Given the description of an element on the screen output the (x, y) to click on. 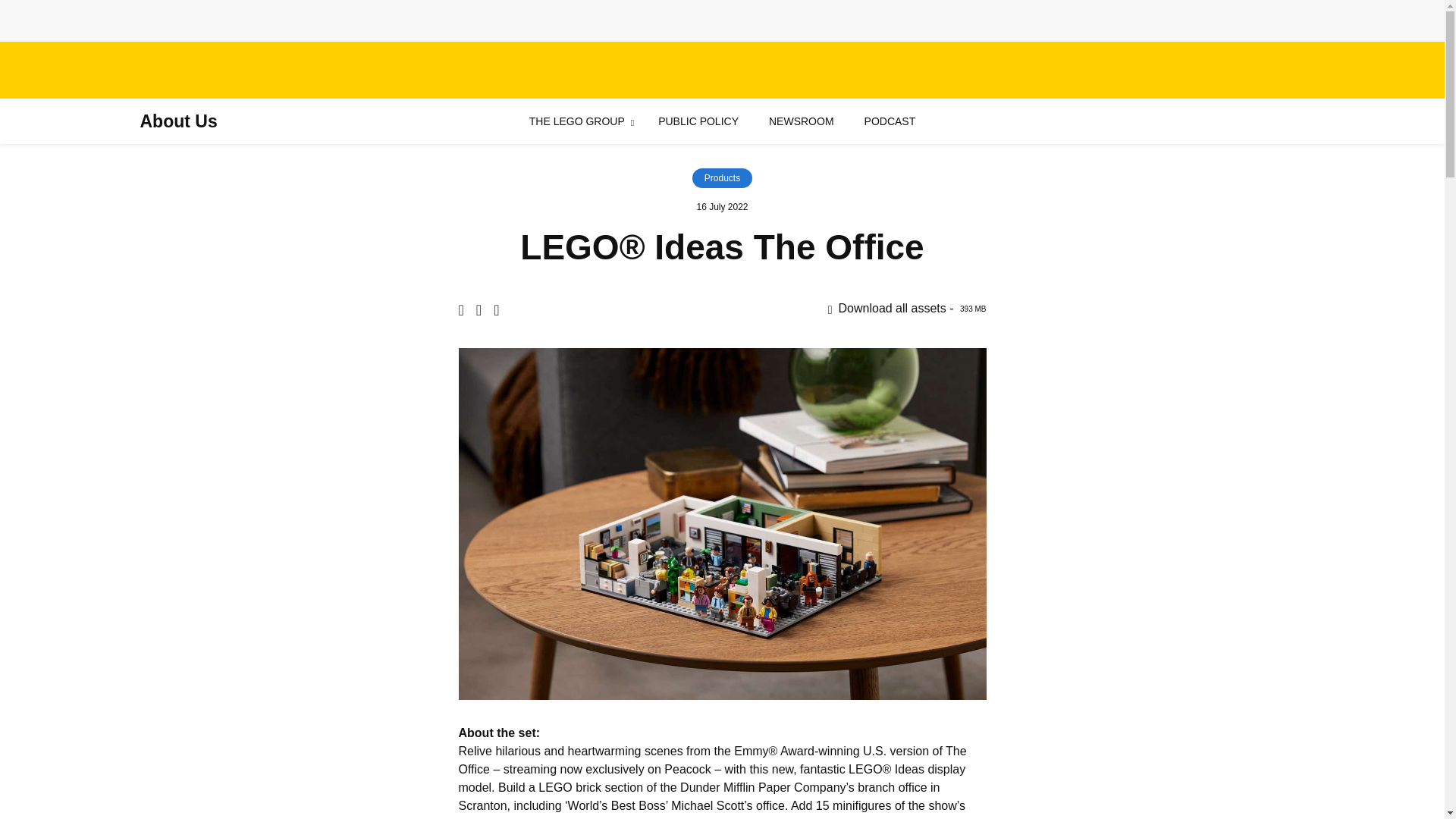
Products (722, 178)
PODCAST (889, 121)
PUBLIC POLICY (698, 121)
About Us (177, 120)
Download all assets (907, 308)
THE LEGO GROUP (576, 121)
NEWSROOM (801, 121)
